Given the description of an element on the screen output the (x, y) to click on. 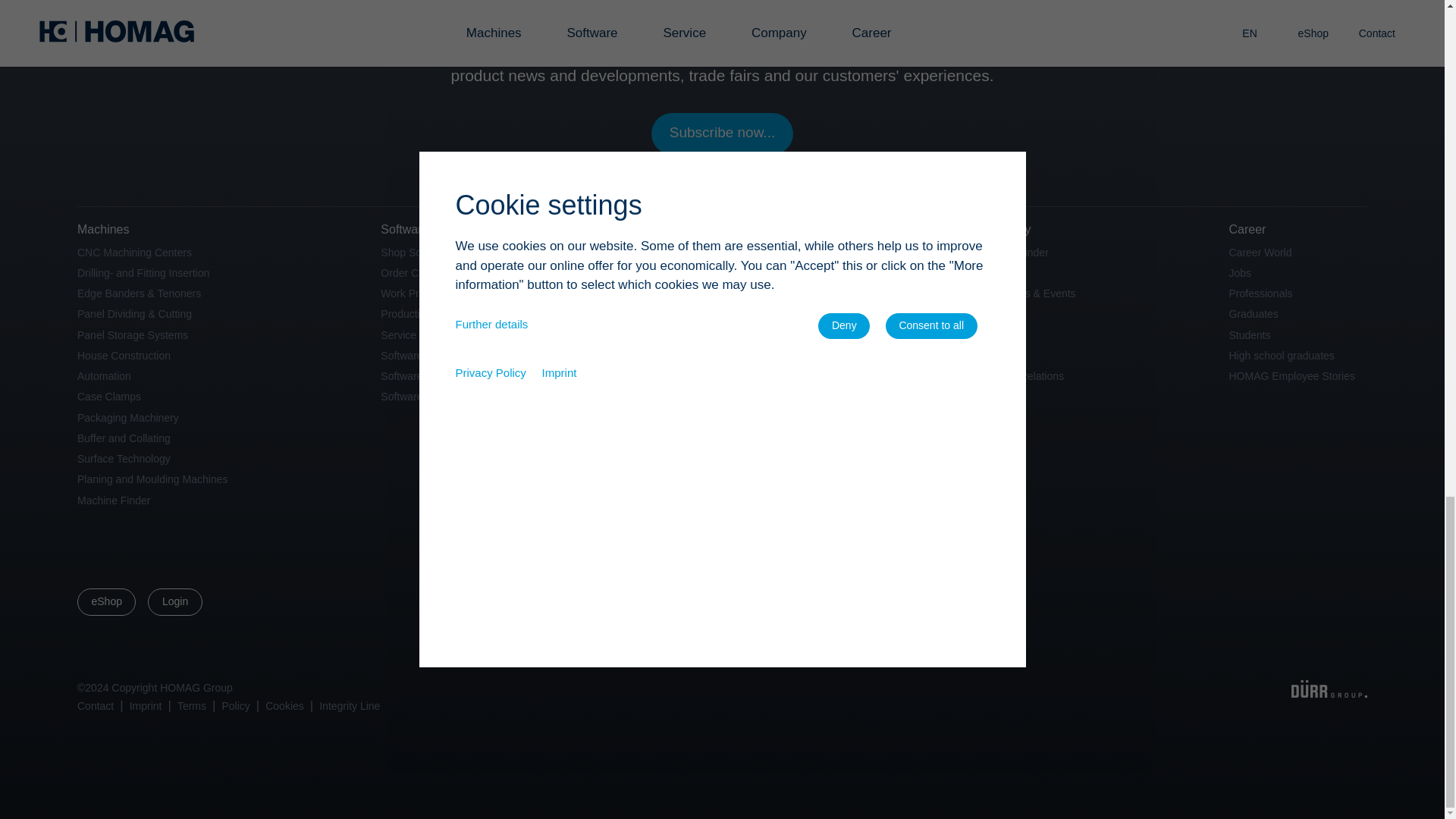
Cookie Settings (284, 705)
